Given the description of an element on the screen output the (x, y) to click on. 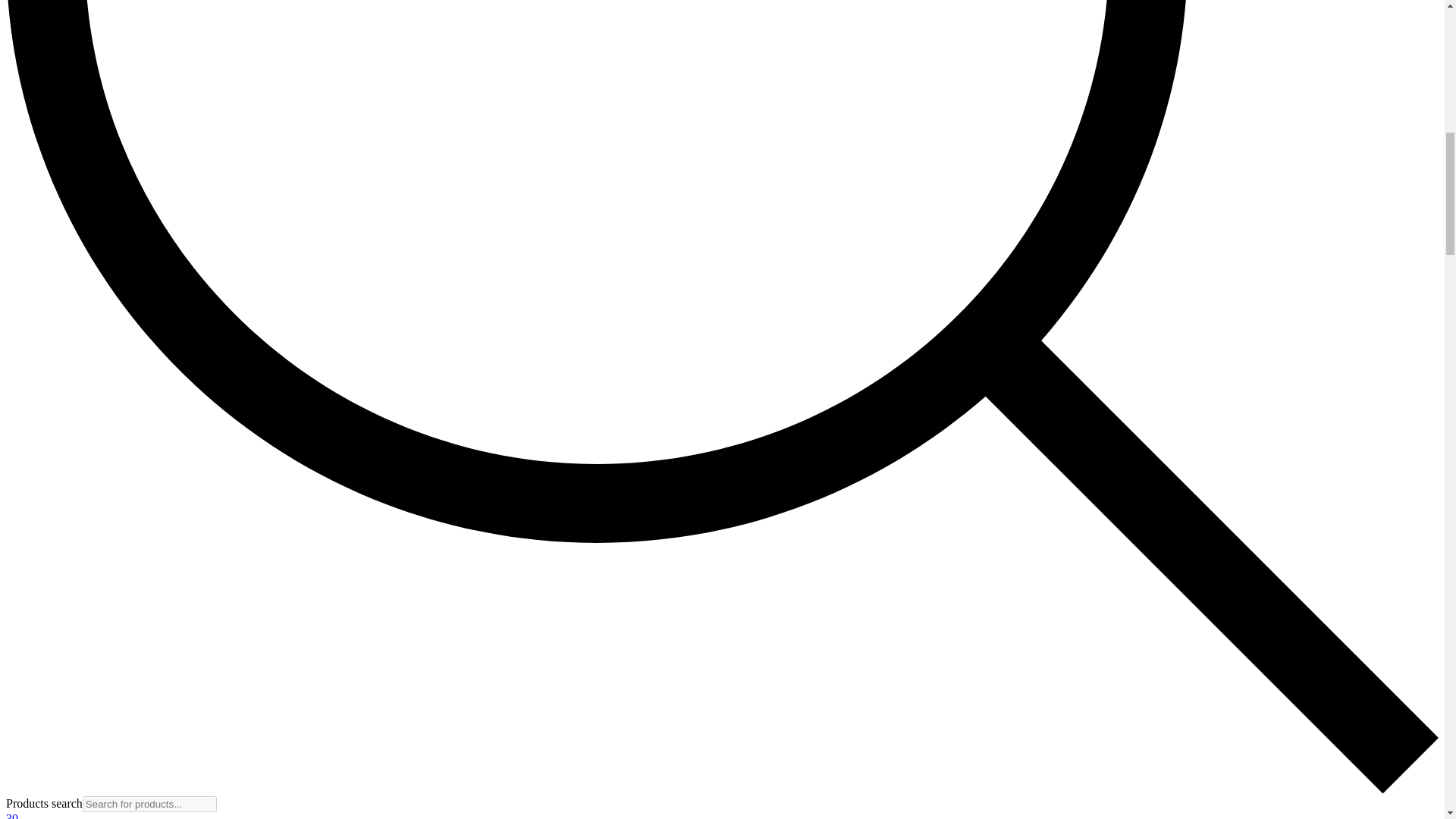
30 (11, 815)
